Given the description of an element on the screen output the (x, y) to click on. 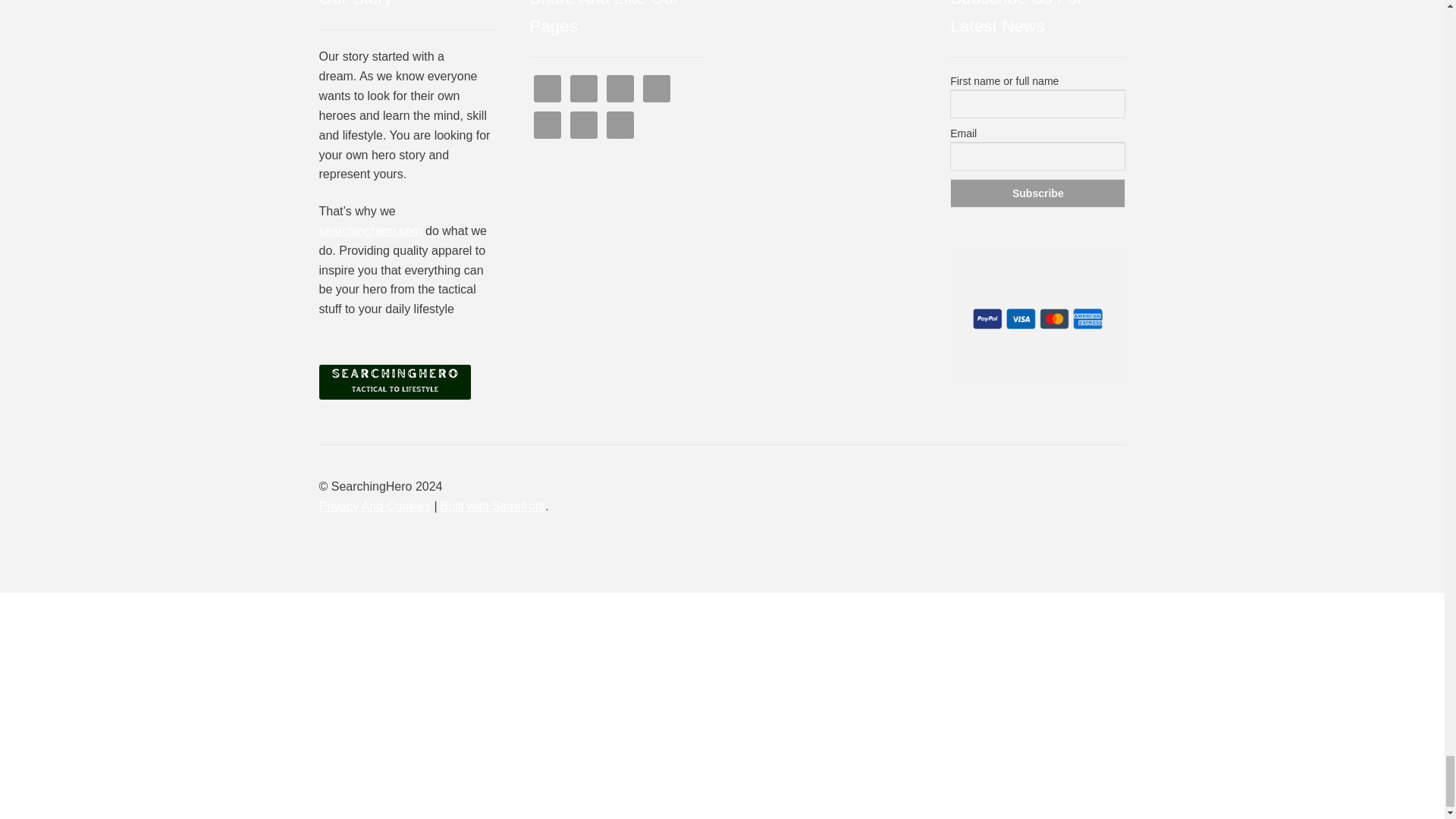
Subscribe (1037, 193)
